Given the description of an element on the screen output the (x, y) to click on. 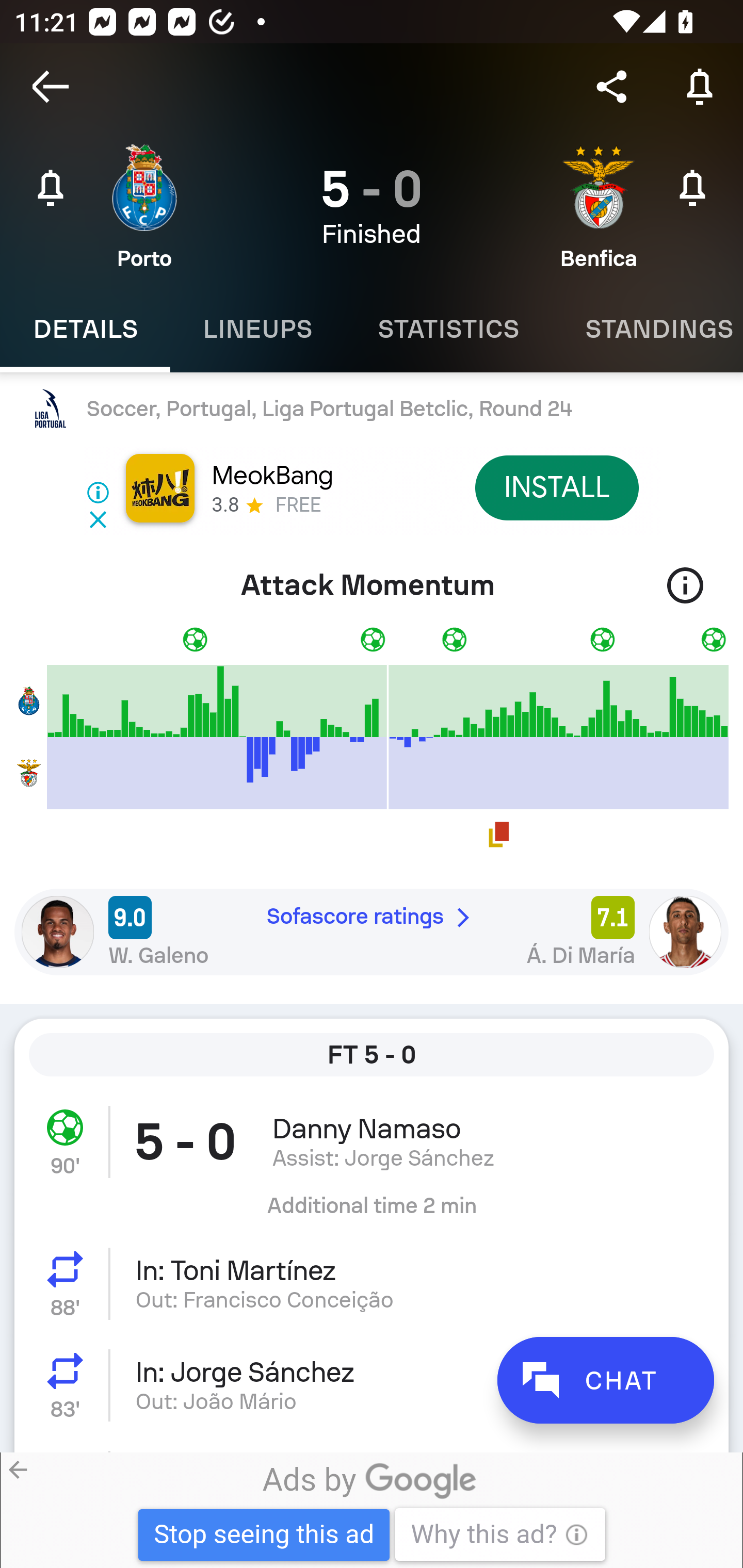
Navigate up (50, 86)
Lineups LINEUPS (257, 329)
Statistics STATISTICS (448, 329)
Standings STANDINGS (647, 329)
Soccer, Portugal, Liga Portugal Betclic, Round 24 (371, 409)
INSTALL (556, 487)
MeokBang (271, 475)
9.0 Sofascore ratings 7.1 W. Galeno Á. Di María (371, 932)
FT 5 - 0 (371, 1055)
Additional time 2 min (371, 1212)
Substitution In: Jorge Sánchez 83' Out: João Mário (371, 1385)
CHAT (605, 1380)
